Given the description of an element on the screen output the (x, y) to click on. 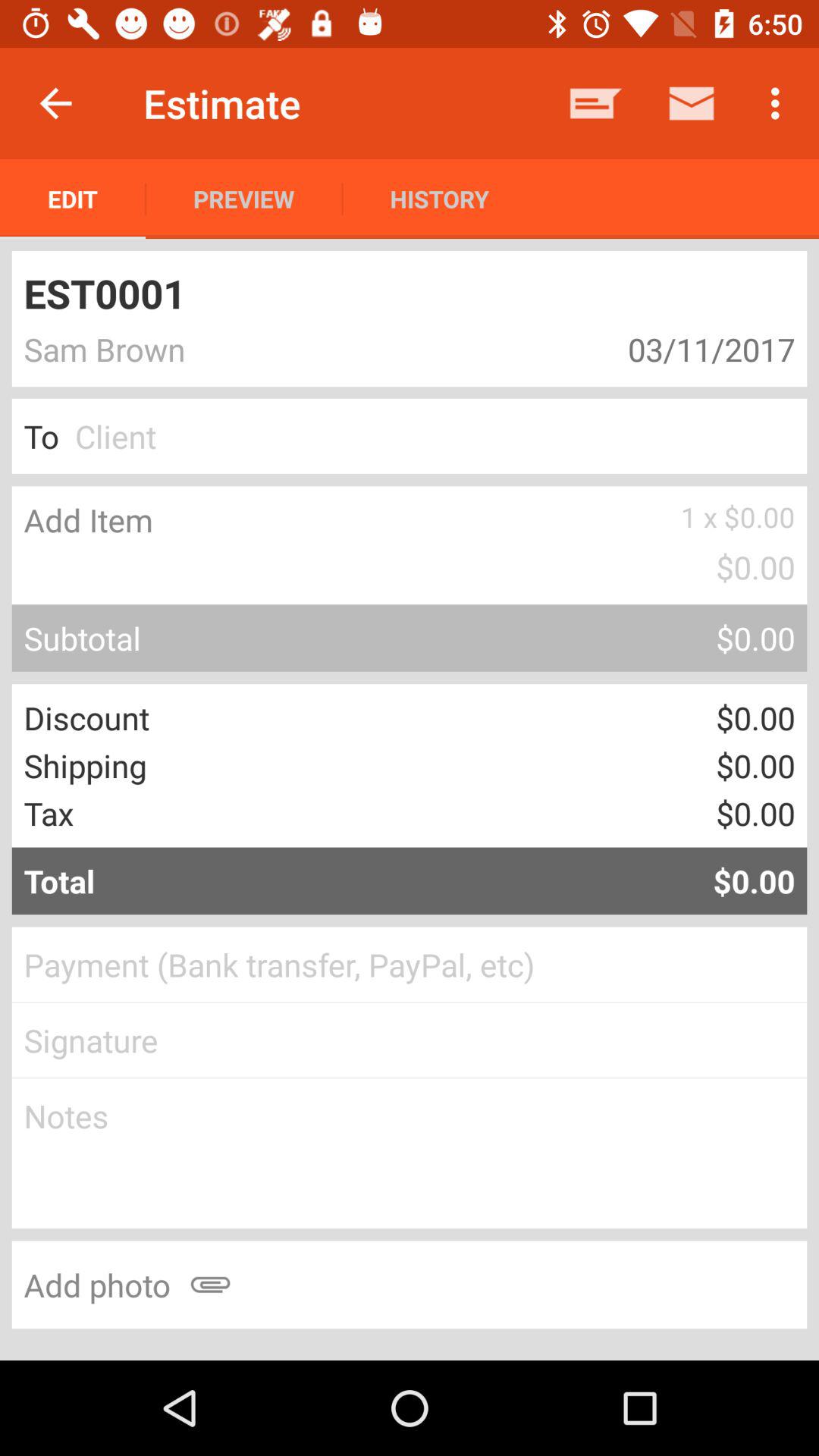
apply note to payment (409, 1153)
